Given the description of an element on the screen output the (x, y) to click on. 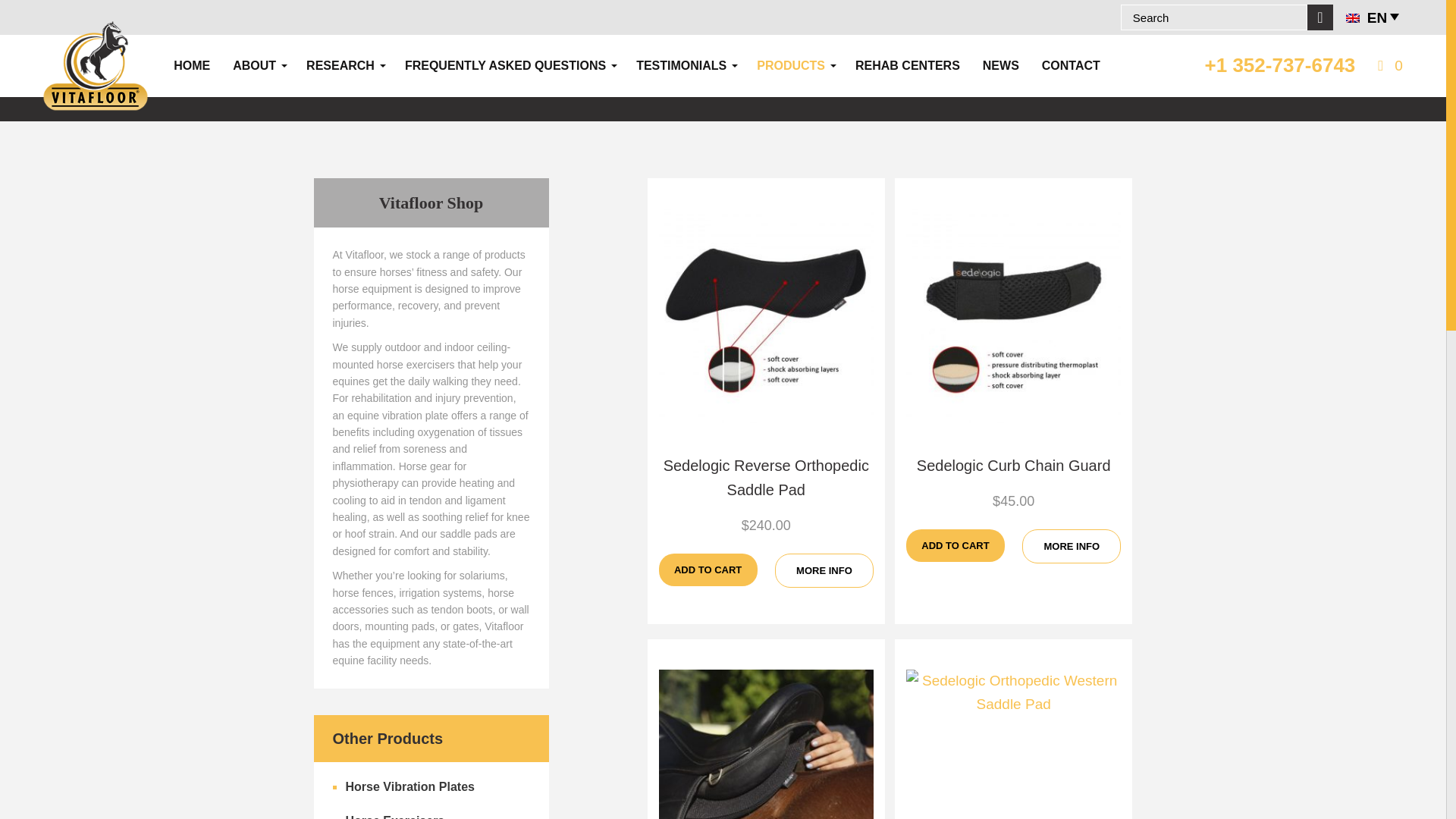
HOME (191, 66)
PRODUCTS (791, 66)
EN (1374, 17)
FREQUENTLY ASKED QUESTIONS (504, 66)
ABOUT (254, 66)
TESTIMONIALS (681, 66)
RESEARCH (339, 66)
